Given the description of an element on the screen output the (x, y) to click on. 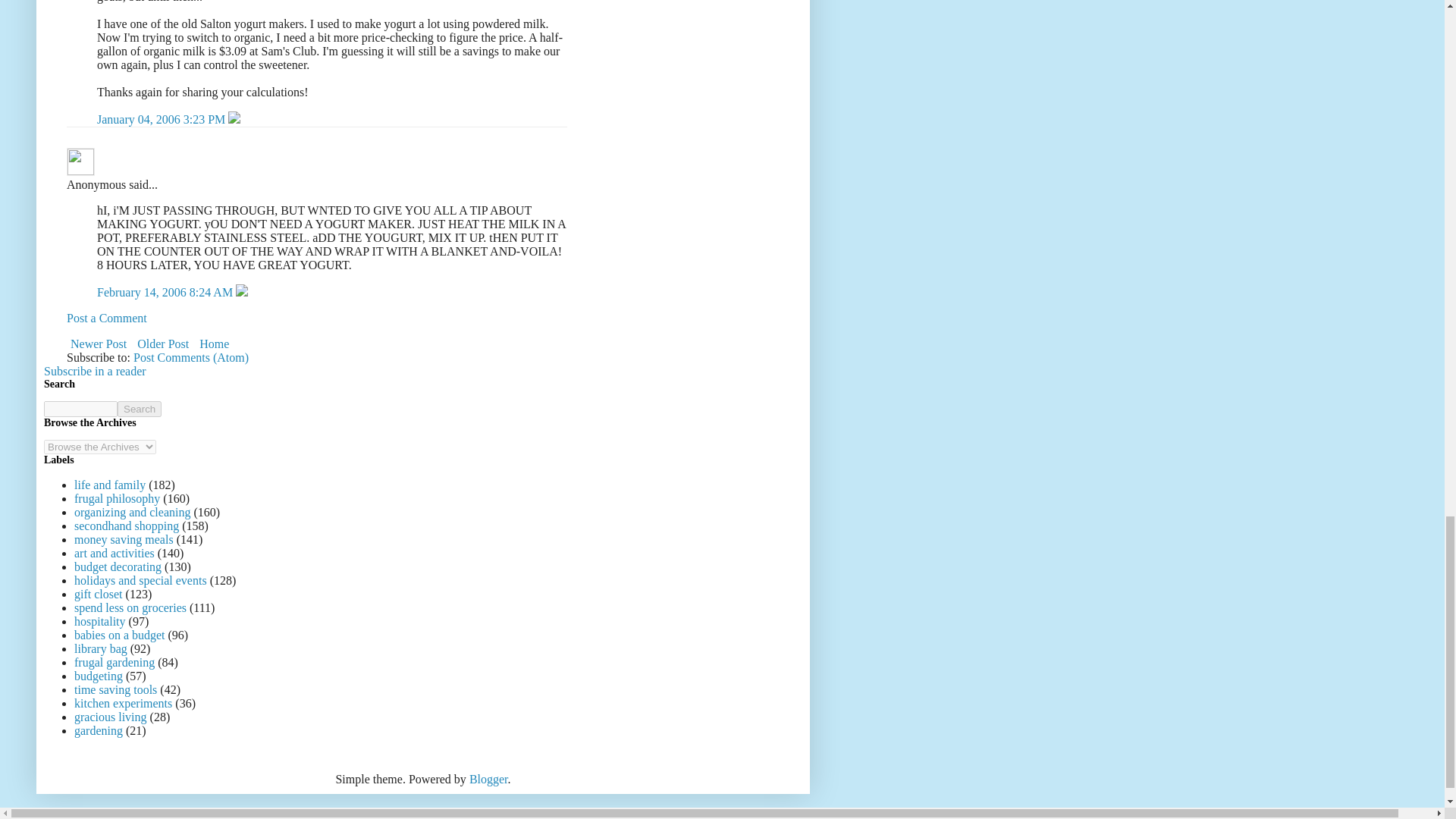
Delete Comment (234, 119)
Post a Comment (106, 318)
January 04, 2006 3:23 PM (162, 119)
Newer Post (98, 343)
comment permalink (162, 119)
Search (139, 408)
Search (139, 408)
February 14, 2006 8:24 AM (166, 291)
